Given the description of an element on the screen output the (x, y) to click on. 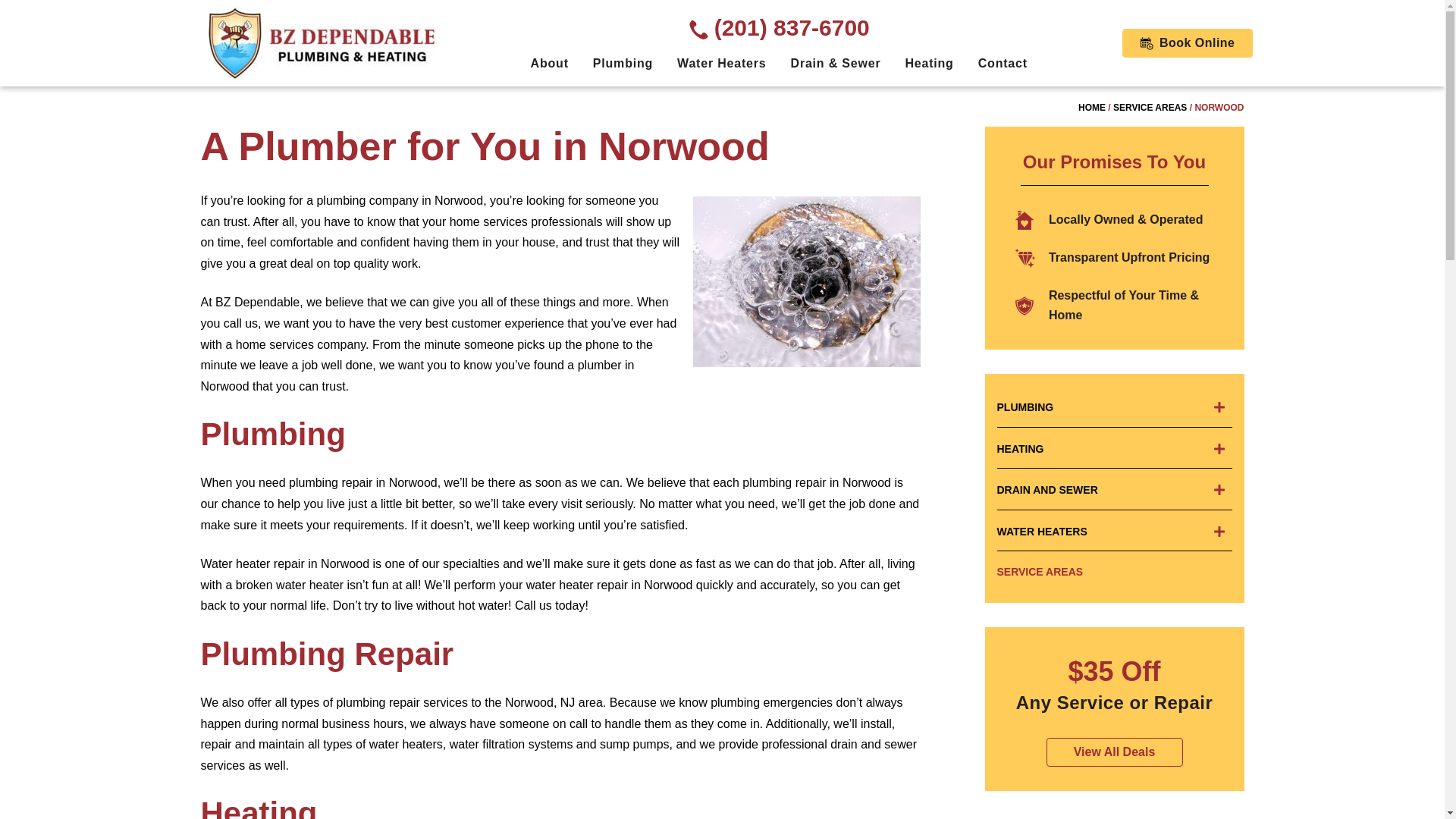
norwood plumber (806, 281)
